Given the description of an element on the screen output the (x, y) to click on. 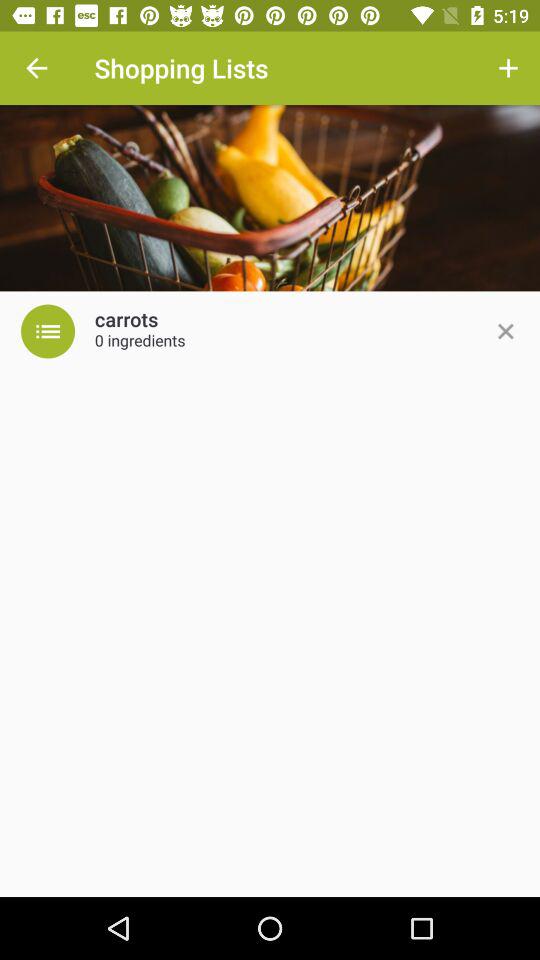
turn off the carrots item (126, 319)
